Given the description of an element on the screen output the (x, y) to click on. 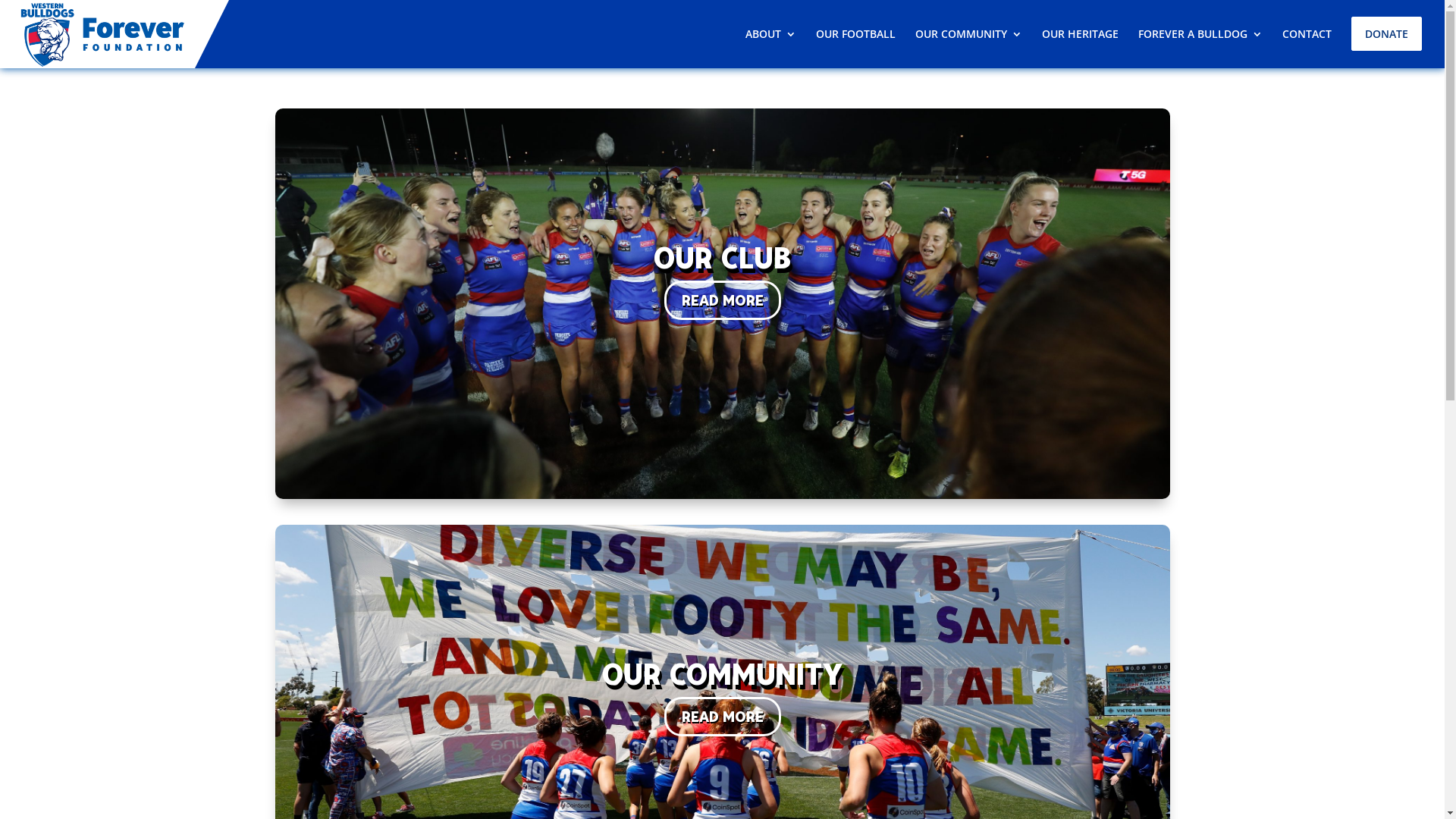
CONTACT Element type: text (1306, 35)
DONATE Element type: text (1386, 35)
OUR FOOTBALL Element type: text (855, 35)
OUR COMMUNITY Element type: text (968, 35)
READ MORE Element type: text (722, 300)
OUR HERITAGE Element type: text (1079, 35)
FOREVER A BULLDOG Element type: text (1200, 35)
READ MORE Element type: text (722, 716)
ABOUT Element type: text (770, 35)
